Given the description of an element on the screen output the (x, y) to click on. 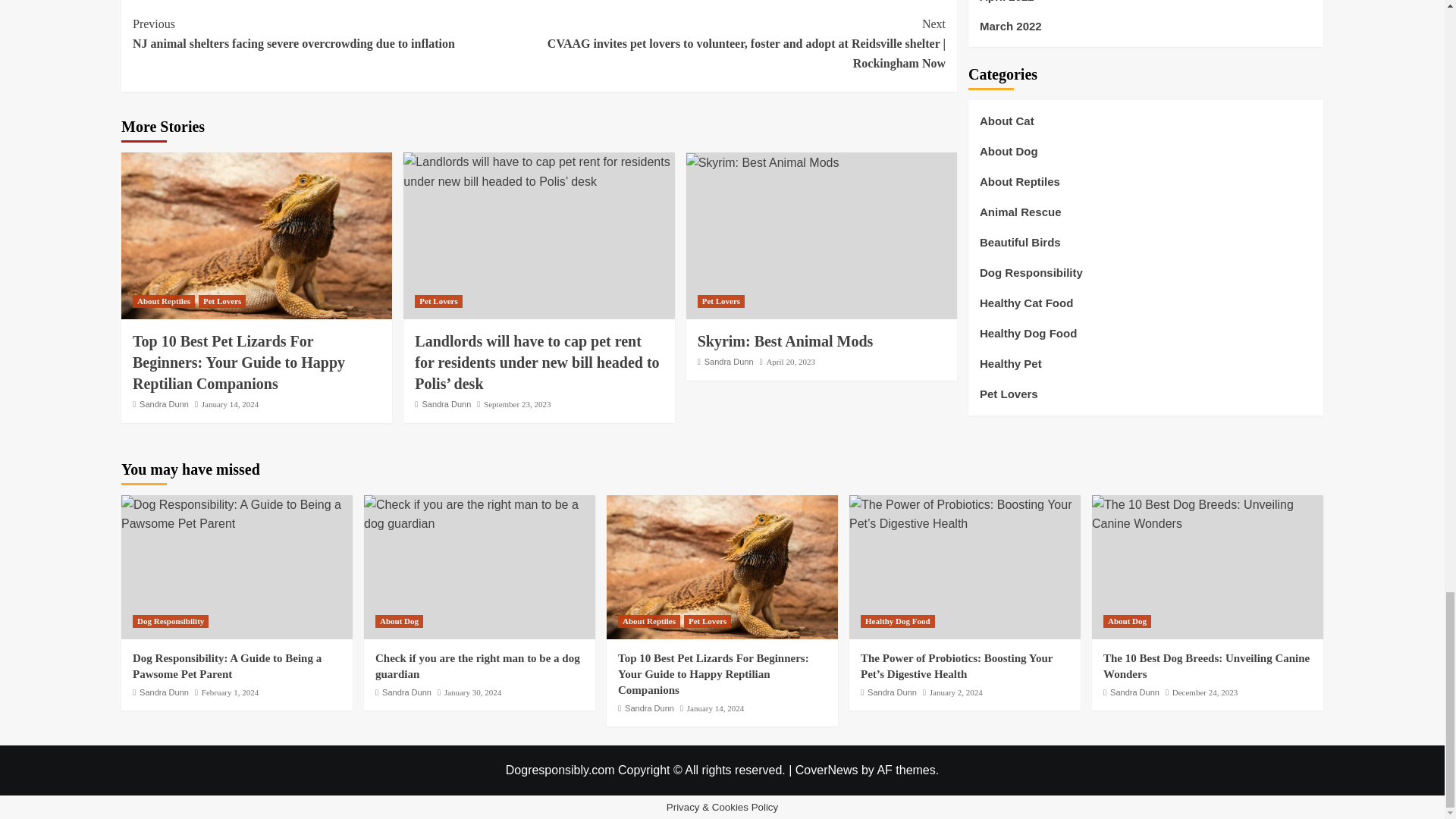
The 10 Best Dog Breeds: Unveiling Canine Wonders (1207, 514)
Pet Lovers (222, 300)
Check if you are the right man to be a dog guardian (479, 514)
About Reptiles (163, 300)
January 14, 2024 (230, 403)
Dog Responsibility: A Guide to Being a Pawsome Pet Parent (236, 514)
Pet Lovers (437, 300)
Skyrim: Best Animal Mods (762, 162)
Sandra Dunn (164, 403)
